Given the description of an element on the screen output the (x, y) to click on. 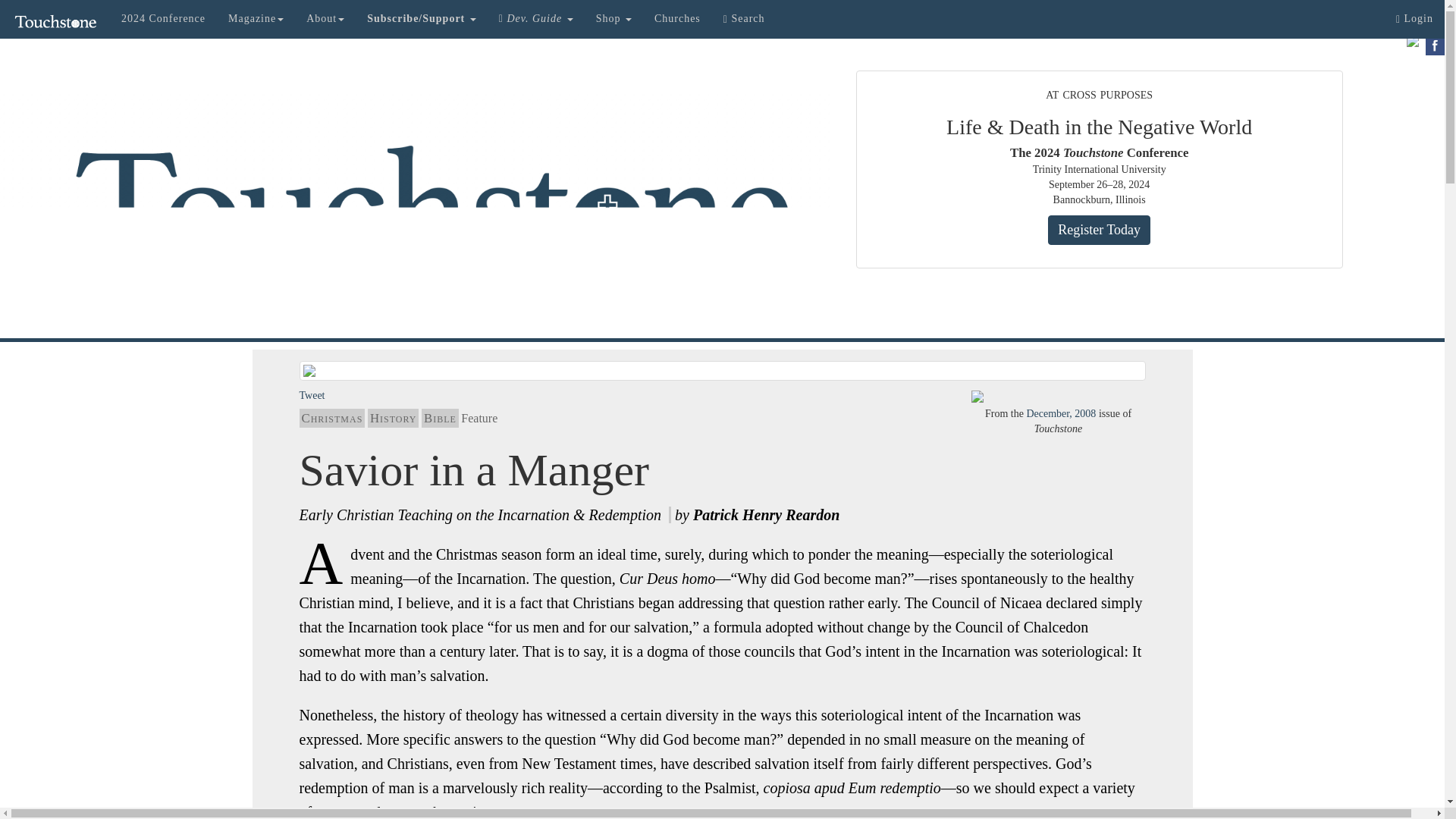
Shop (614, 18)
About (325, 18)
Dev. Guide (536, 18)
Login (1414, 18)
Register Today (1099, 230)
Magazine (255, 18)
2024 Conference (163, 18)
Churches (677, 18)
Search (743, 18)
